Given the description of an element on the screen output the (x, y) to click on. 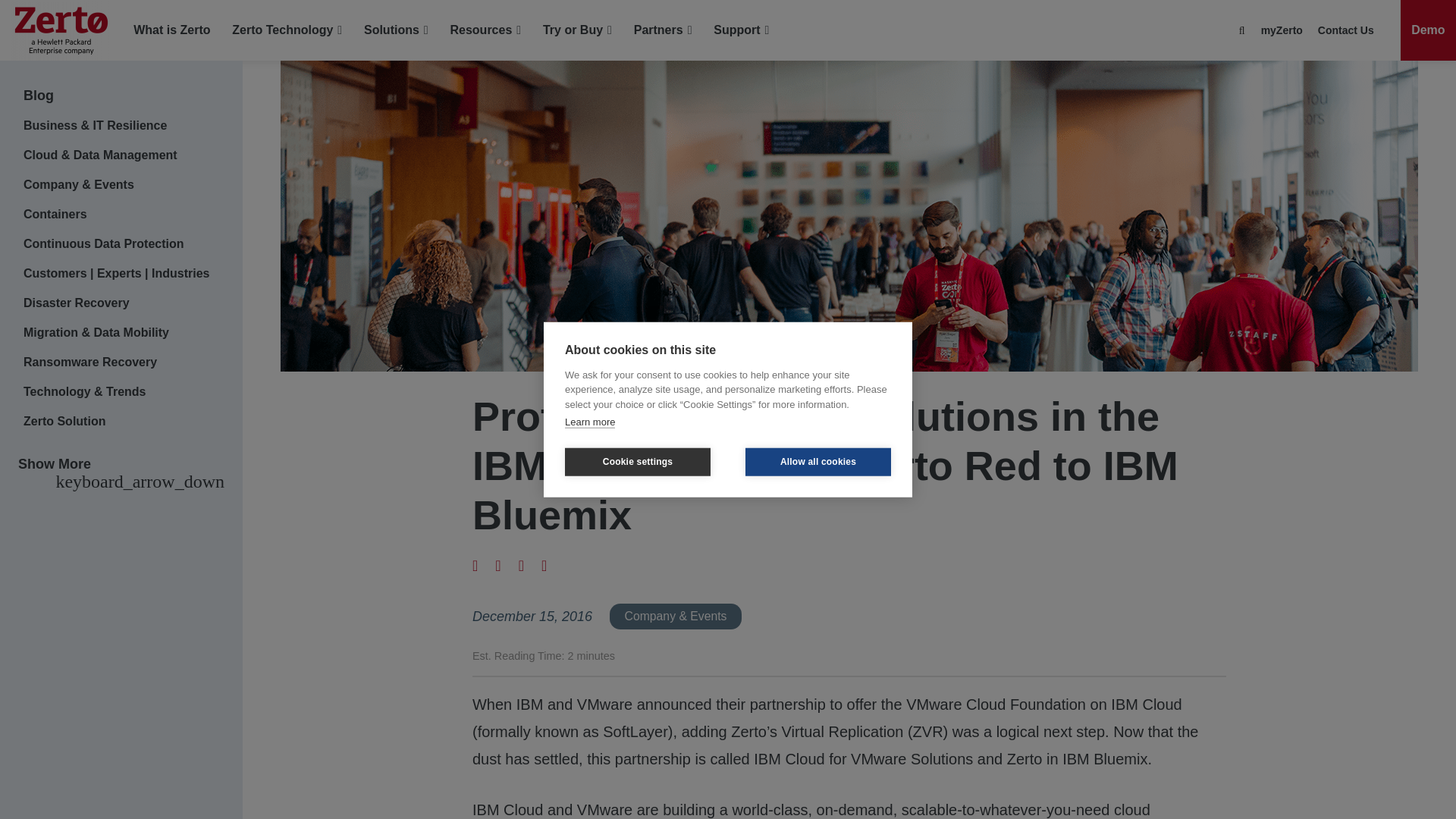
Solutions (396, 30)
What is Zerto (171, 30)
Zerto Technology (287, 30)
